Given the description of an element on the screen output the (x, y) to click on. 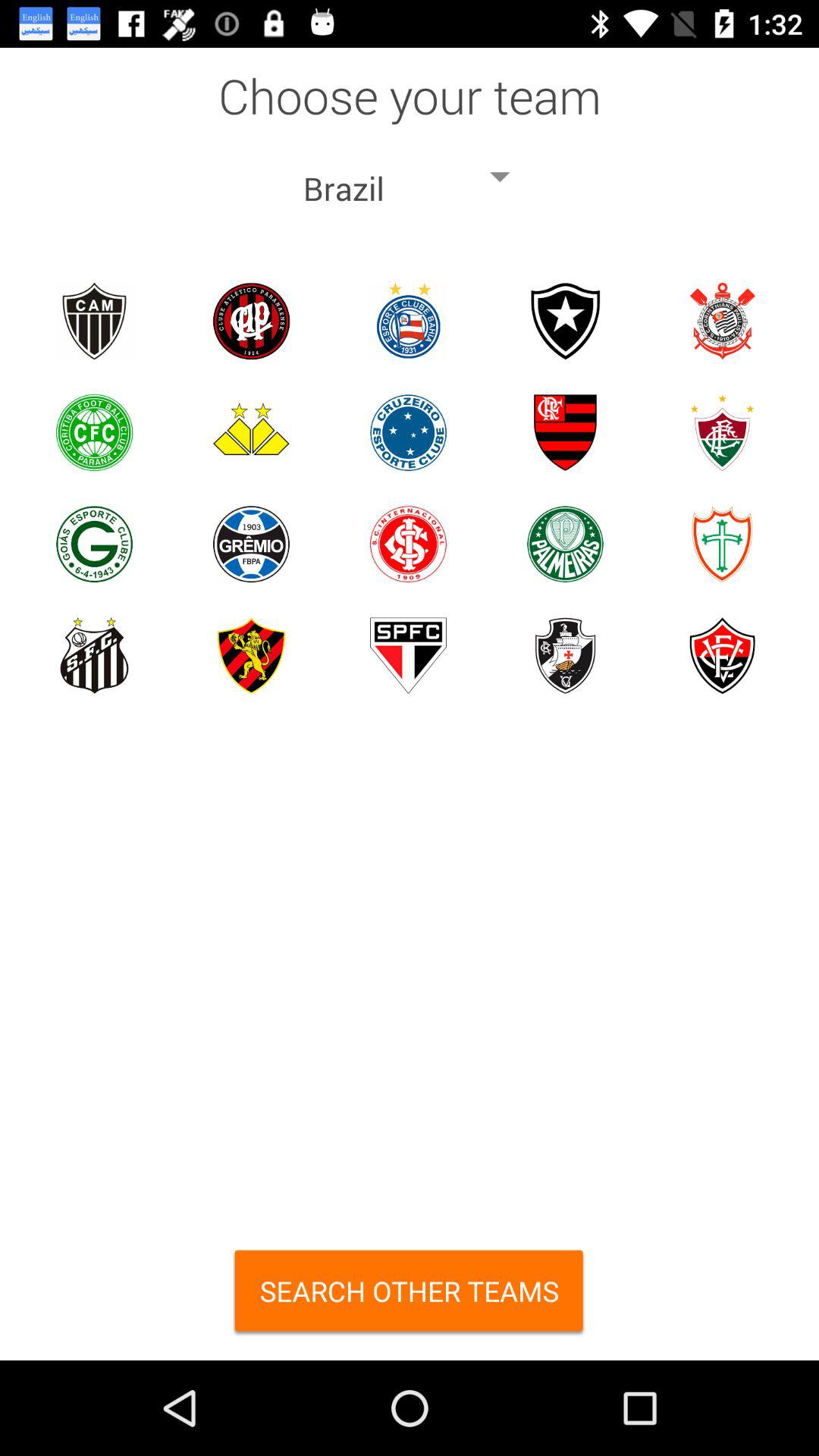
click to select the team (565, 655)
